Given the description of an element on the screen output the (x, y) to click on. 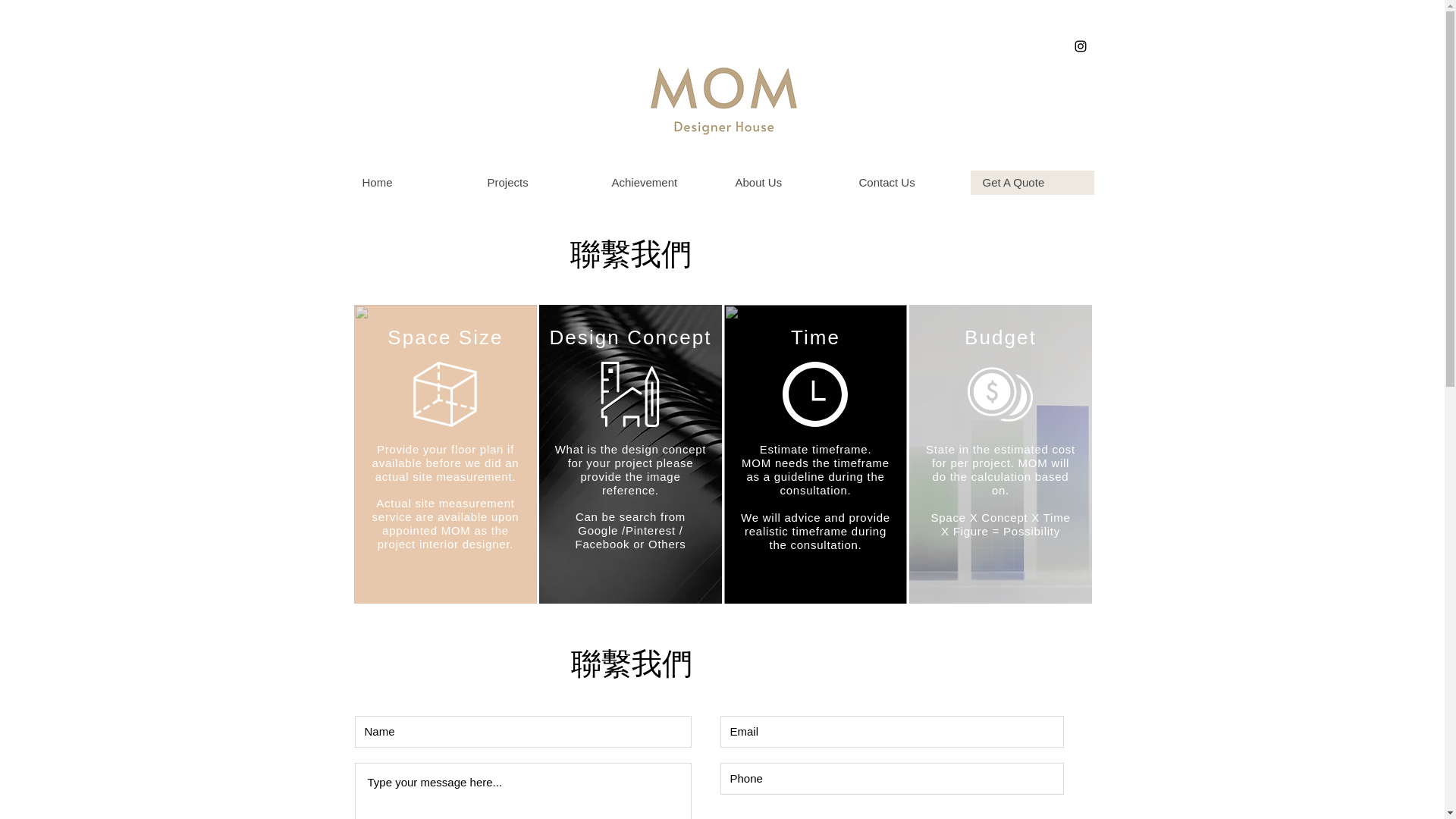
Home (412, 182)
